Given the description of an element on the screen output the (x, y) to click on. 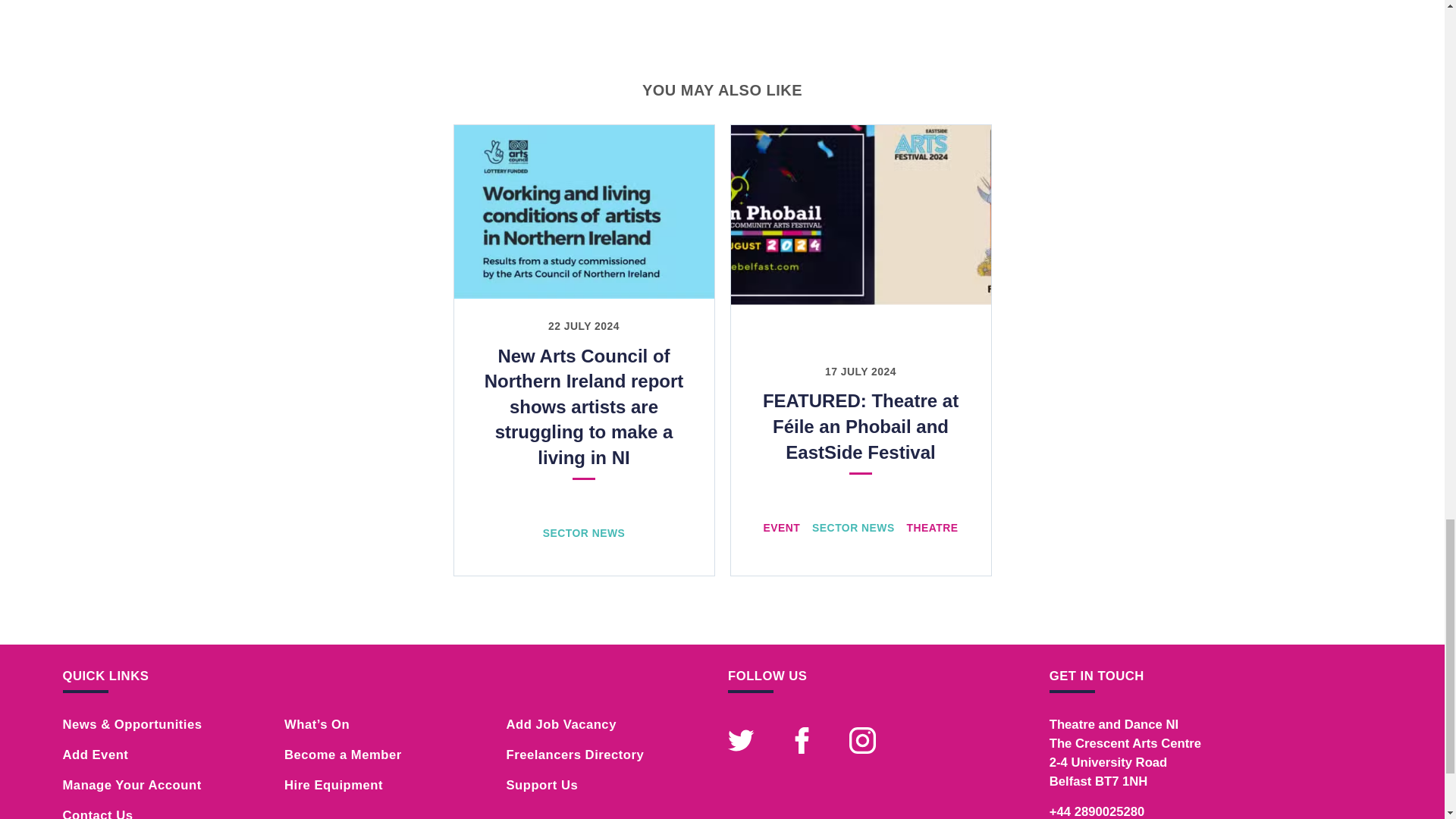
Phone us (1096, 811)
